Given the description of an element on the screen output the (x, y) to click on. 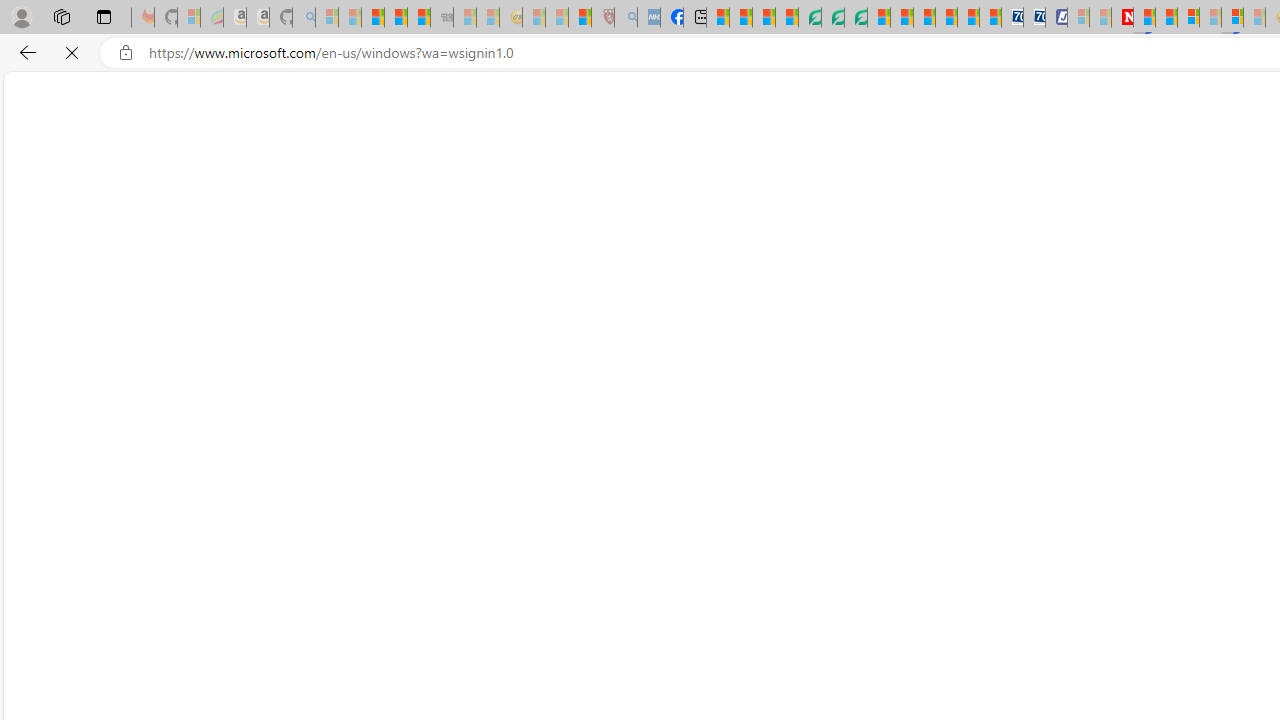
Local - MSN (580, 17)
New Report Confirms 2023 Was Record Hot | Watch (419, 17)
Latest Politics News & Archive | Newsweek.com (1122, 17)
The Weather Channel - MSN (372, 17)
